Given the description of an element on the screen output the (x, y) to click on. 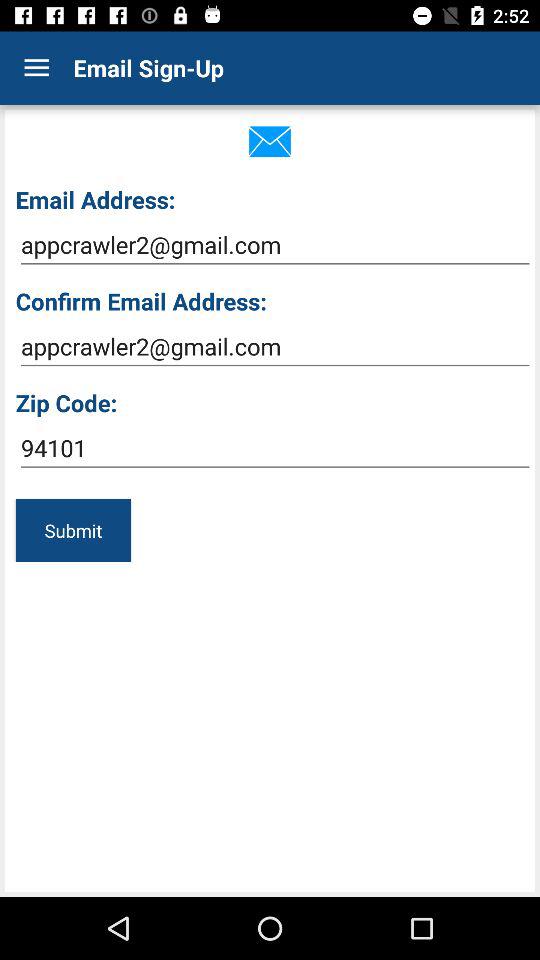
flip until the submit icon (73, 530)
